Given the description of an element on the screen output the (x, y) to click on. 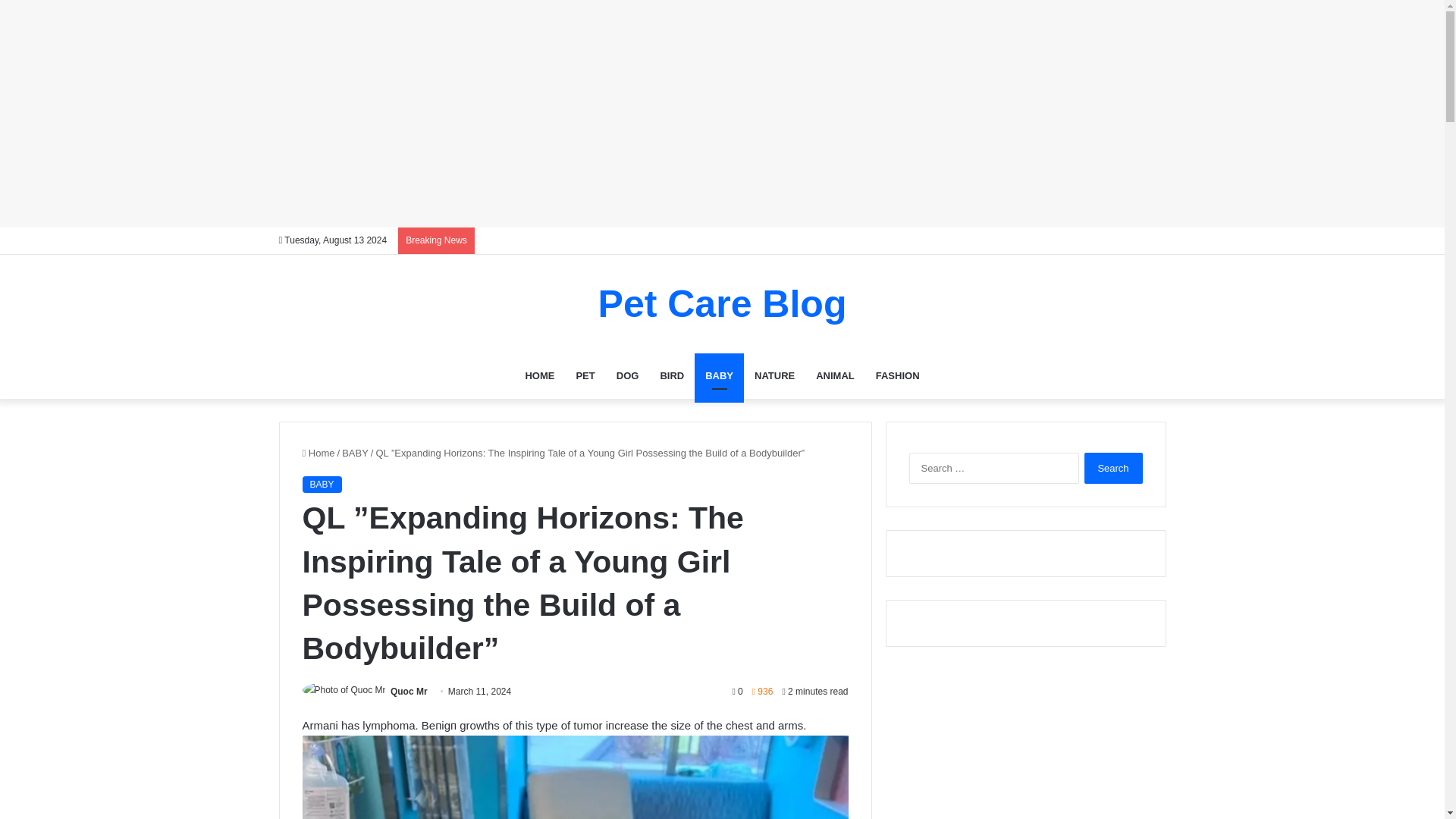
BIRD (671, 375)
Search (1113, 468)
Quoc Mr (409, 691)
Quoc Mr (409, 691)
Pet Care Blog (722, 303)
Home (317, 452)
HOME (538, 375)
Pet Care Blog (722, 303)
FASHION (897, 375)
BABY (320, 484)
